Given the description of an element on the screen output the (x, y) to click on. 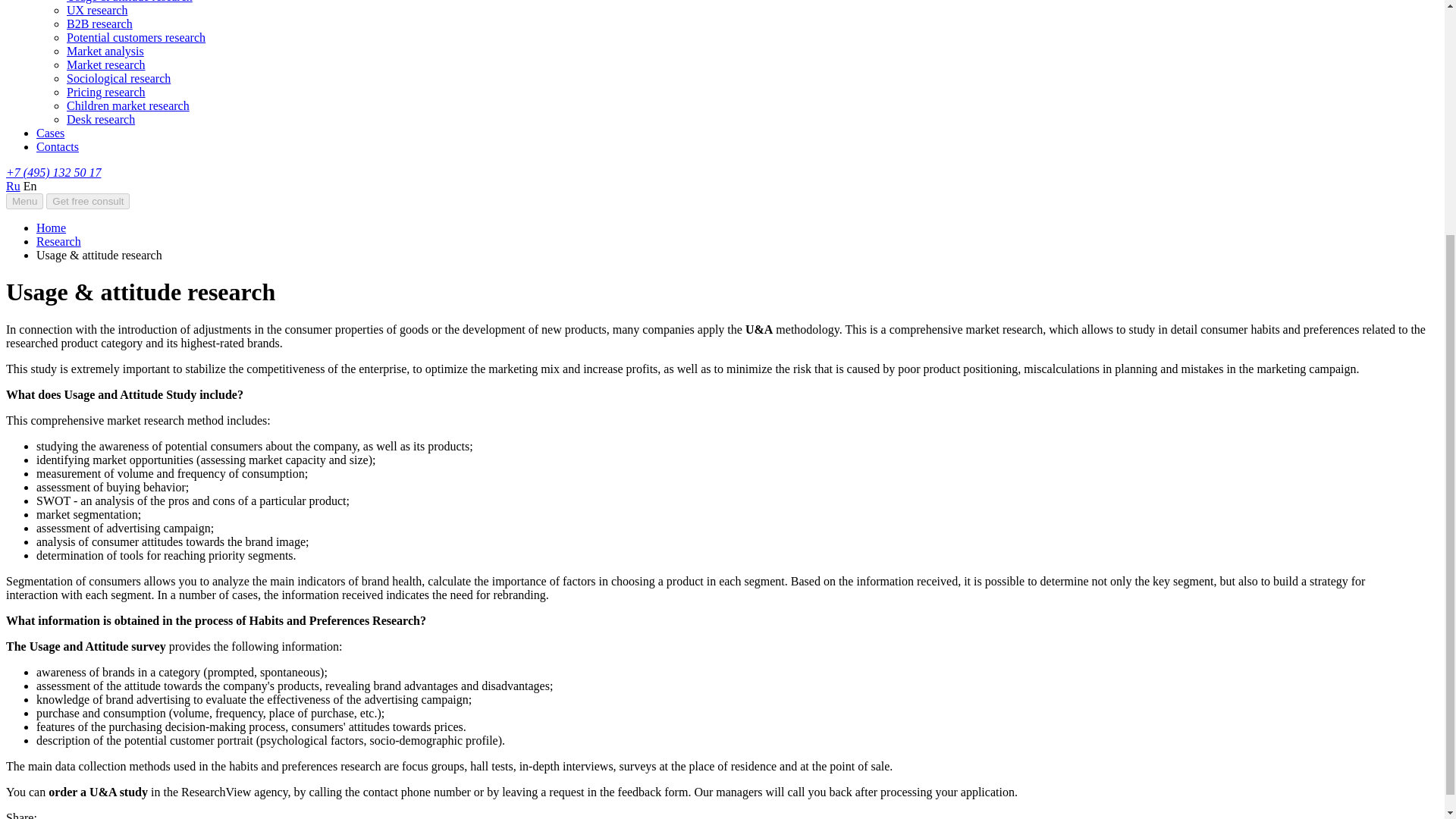
Get free consult (87, 201)
Sociological research (118, 78)
Children market research (127, 105)
Contacts (57, 146)
Market analysis (105, 51)
Ru (12, 185)
En (30, 185)
Cases (50, 132)
Home (50, 227)
Potential customers research (135, 37)
Menu (24, 201)
Pricing research (105, 91)
Desk research (100, 119)
Market research (105, 64)
B2B research (99, 23)
